Given the description of an element on the screen output the (x, y) to click on. 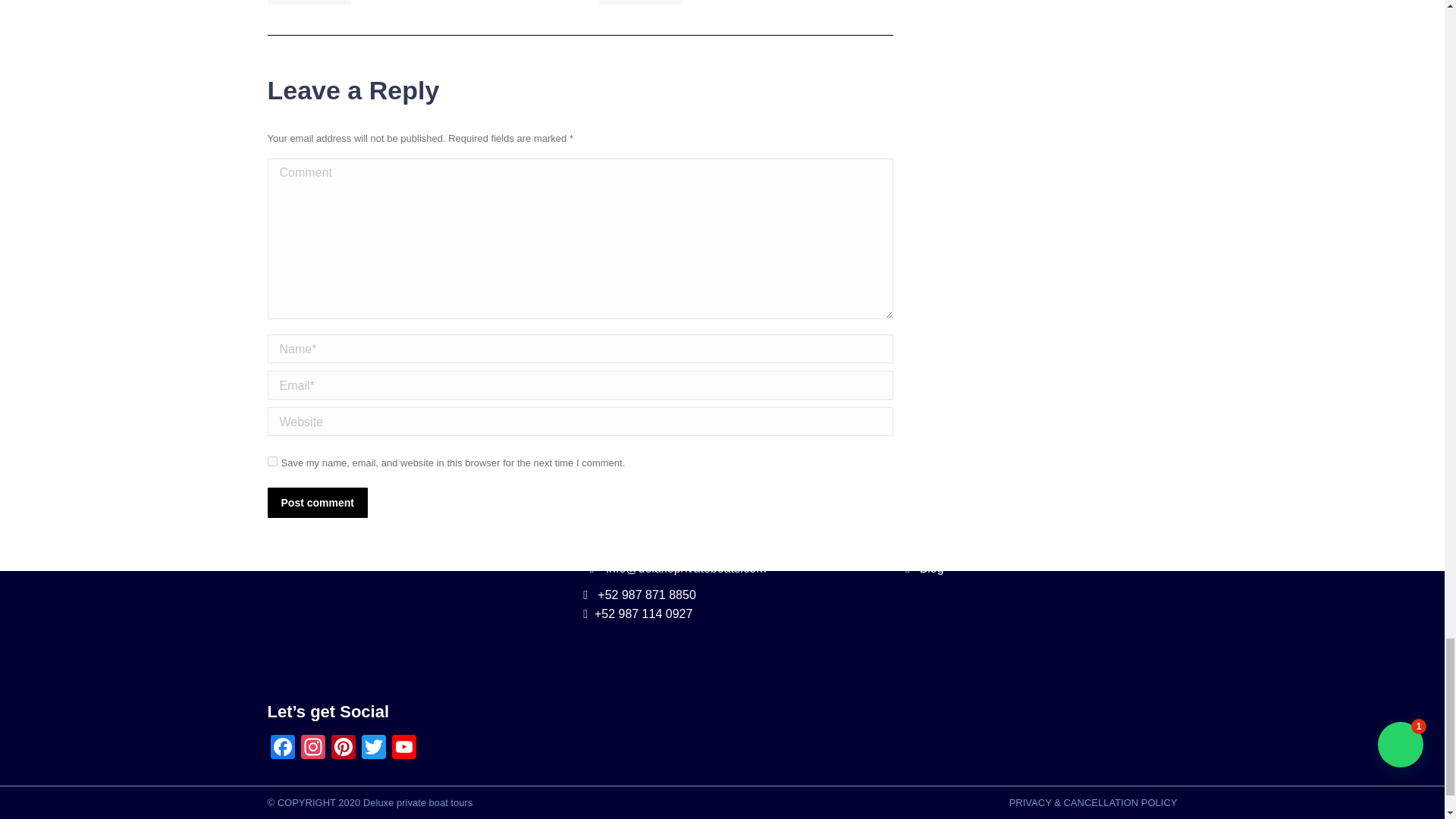
yes (271, 461)
